Given the description of an element on the screen output the (x, y) to click on. 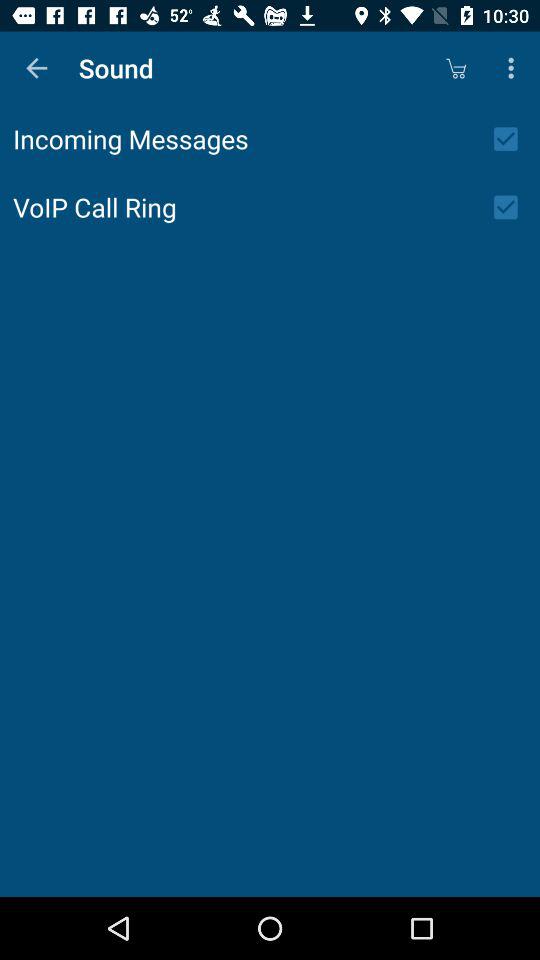
enable voip call ring option (512, 207)
